Given the description of an element on the screen output the (x, y) to click on. 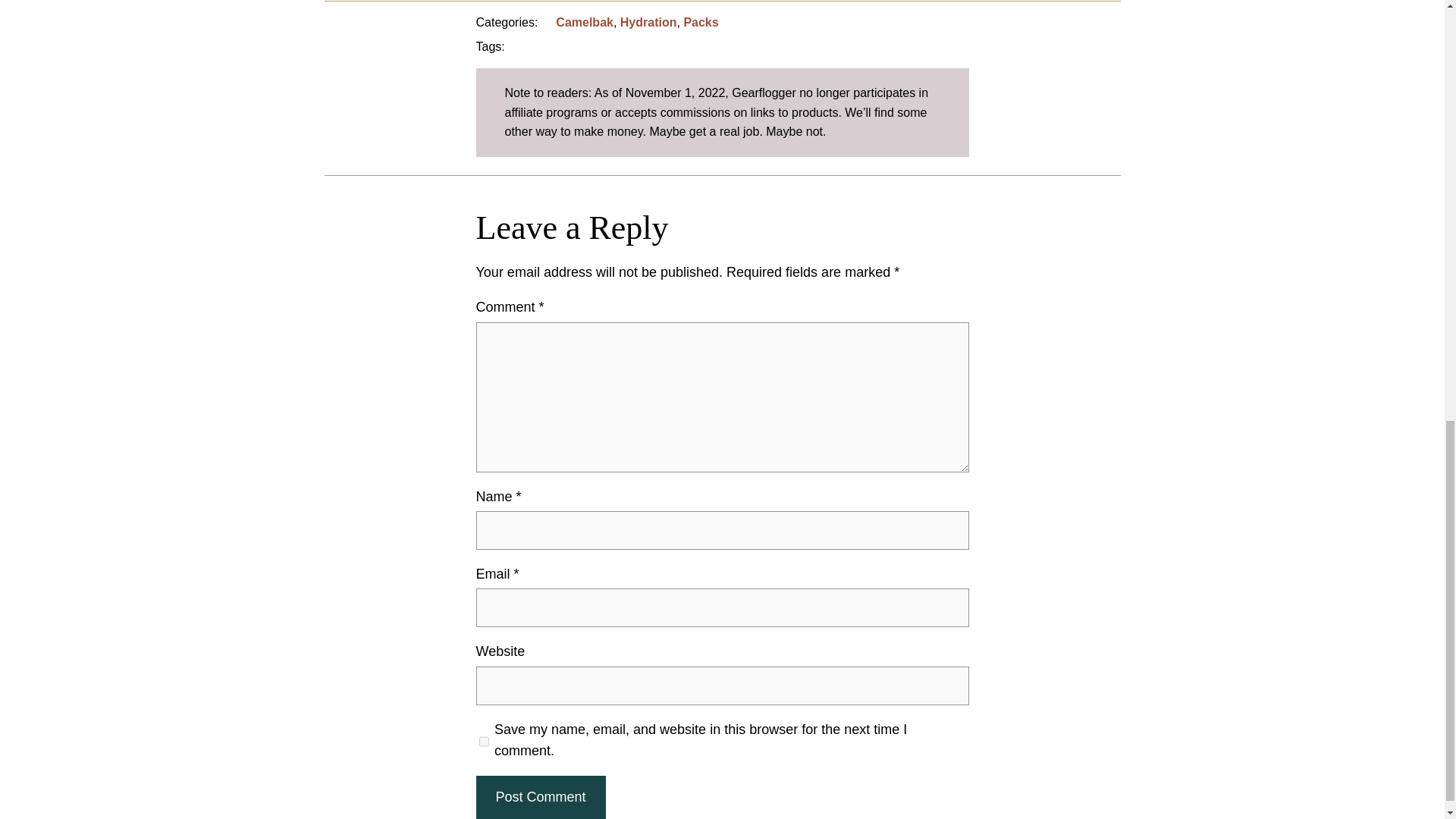
yes (484, 741)
Hydration (648, 21)
Camelbak (584, 21)
Packs (699, 21)
